Given the description of an element on the screen output the (x, y) to click on. 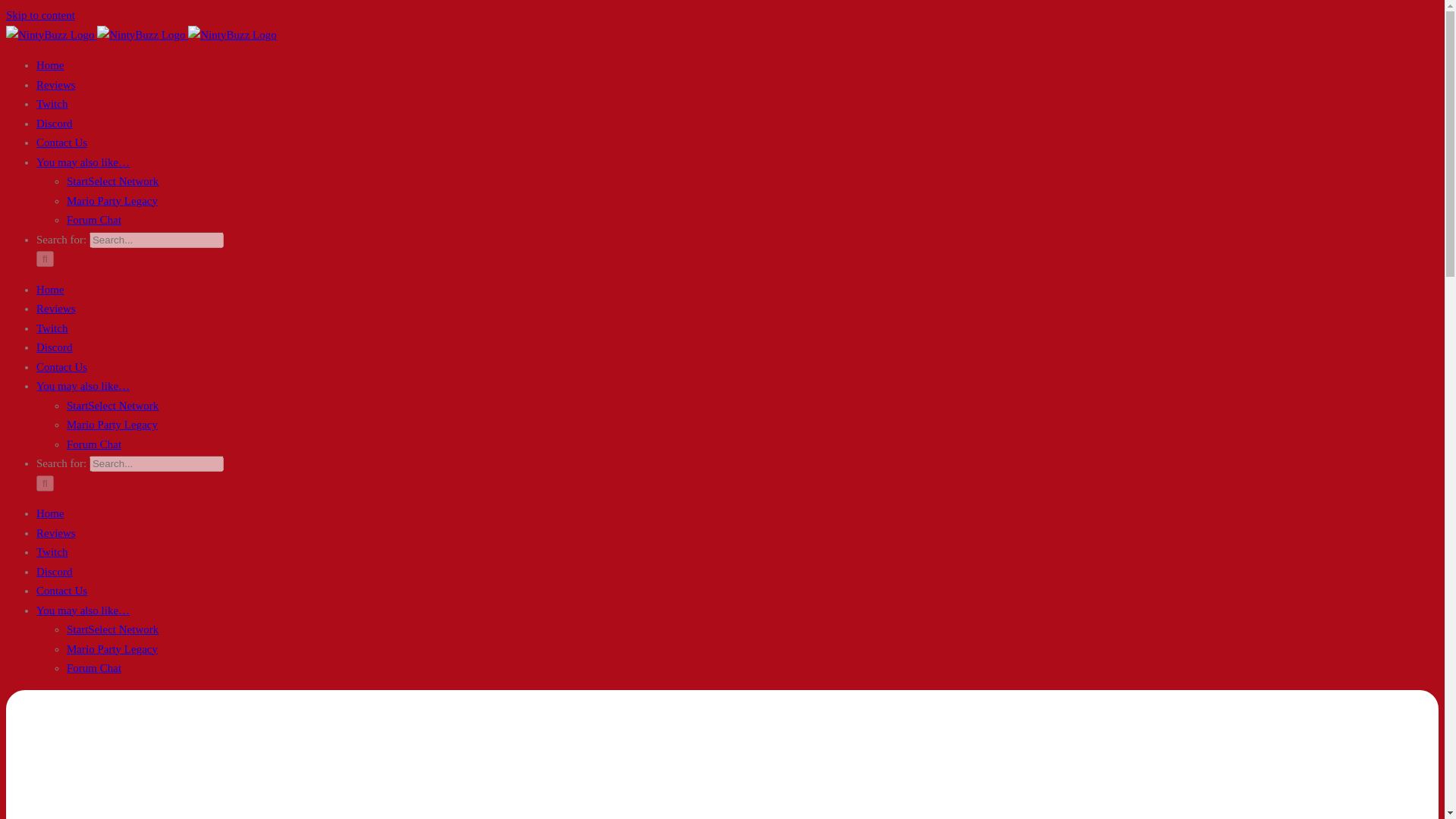
Forum Chat (93, 667)
Mario Party Legacy (111, 200)
Forum Chat (93, 444)
Reviews (55, 84)
Twitch (51, 103)
Discord (54, 571)
Twitch (51, 551)
Home (50, 512)
StartSelect Network (112, 181)
Skip to content (40, 15)
Discord (54, 122)
Reviews (55, 308)
Contact Us (61, 142)
Home (50, 64)
Contact Us (61, 367)
